Given the description of an element on the screen output the (x, y) to click on. 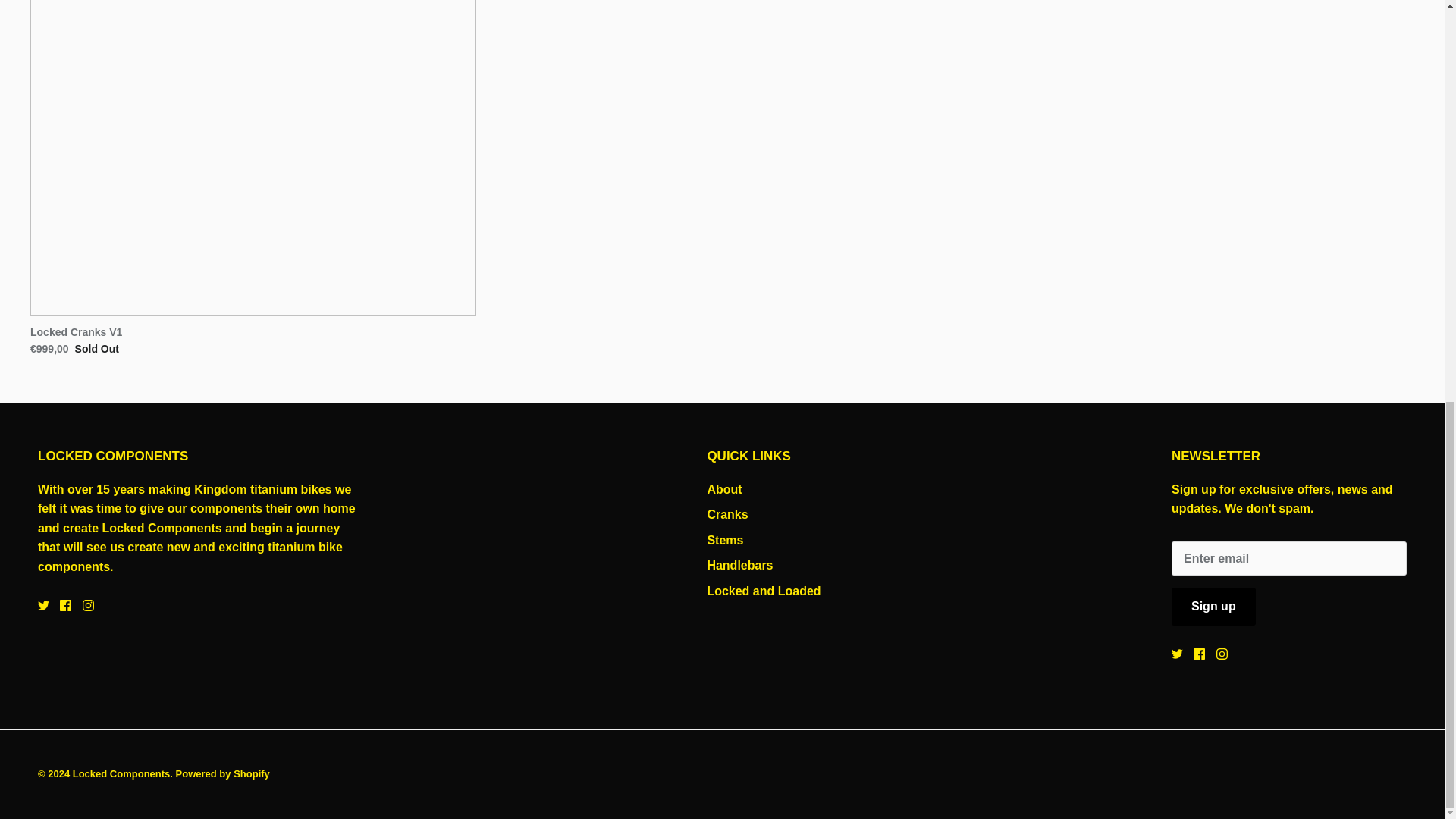
Twitter (1177, 654)
Instagram (1221, 654)
Instagram (88, 604)
Facebook (65, 604)
Twitter (43, 604)
Facebook (1199, 654)
